Given the description of an element on the screen output the (x, y) to click on. 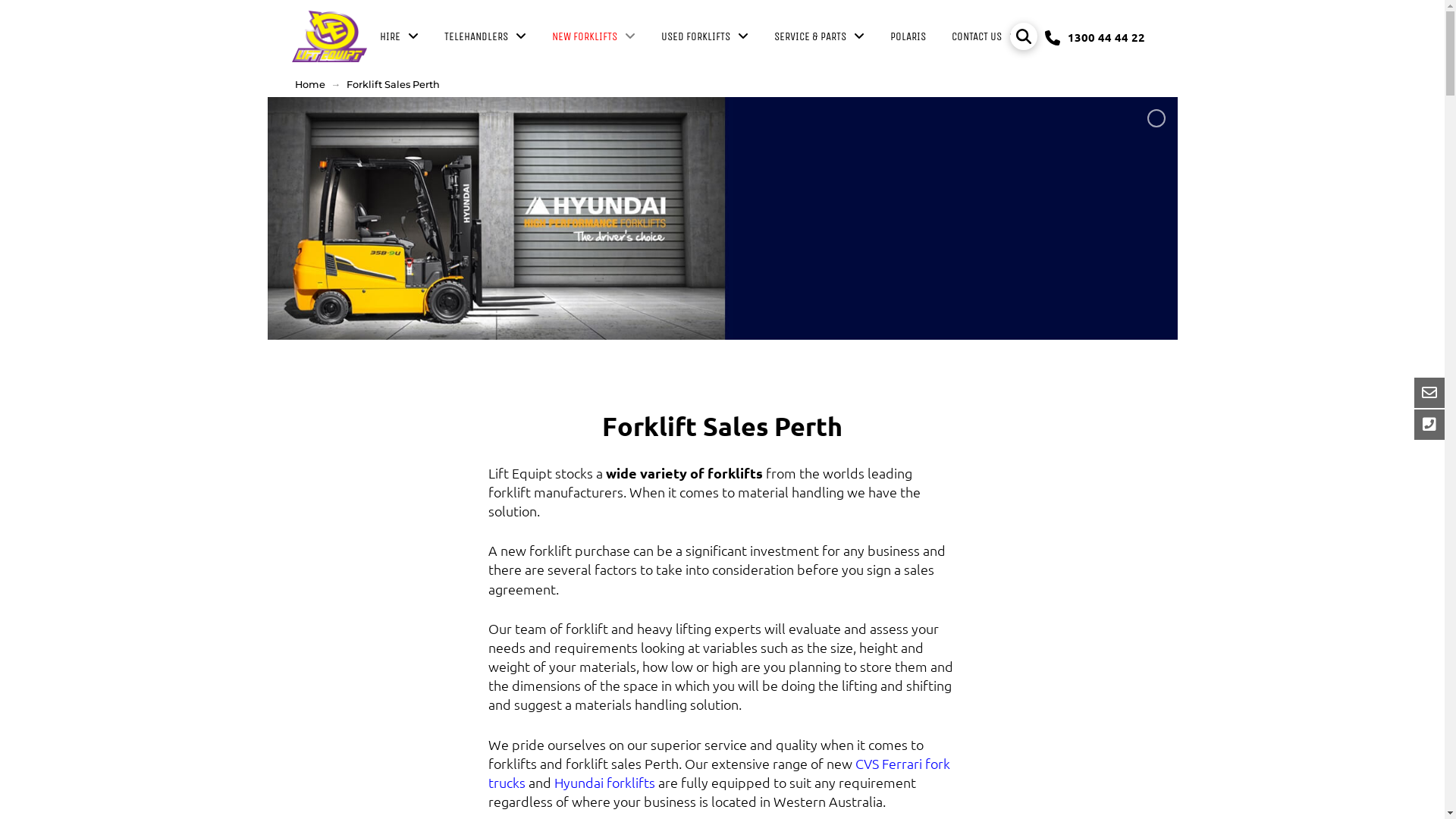
HIRE Element type: text (399, 36)
1300 44 44 22 Element type: text (1095, 36)
Forklift Sales Perth Element type: text (392, 84)
TELEHANDLERS Element type: text (485, 36)
Home Element type: text (309, 84)
Hyundai forklifts Element type: text (604, 781)
SERVICE & PARTS Element type: text (819, 36)
CVS Ferrari fork trucks Element type: text (719, 772)
CONTACT US Element type: text (985, 36)
NEW FORKLIFTS Element type: text (593, 36)
POLARIS Element type: text (907, 36)
USED FORKLIFTS Element type: text (704, 36)
